Given the description of an element on the screen output the (x, y) to click on. 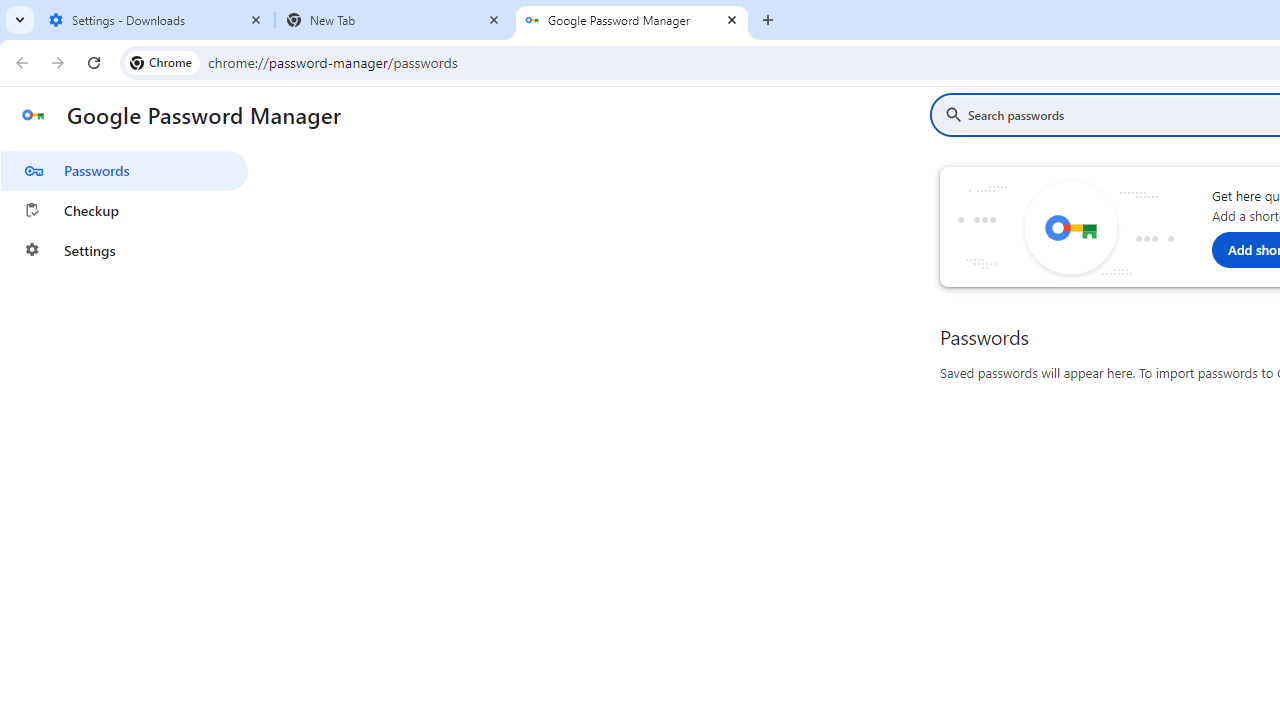
AutomationID: menu (124, 206)
